Given the description of an element on the screen output the (x, y) to click on. 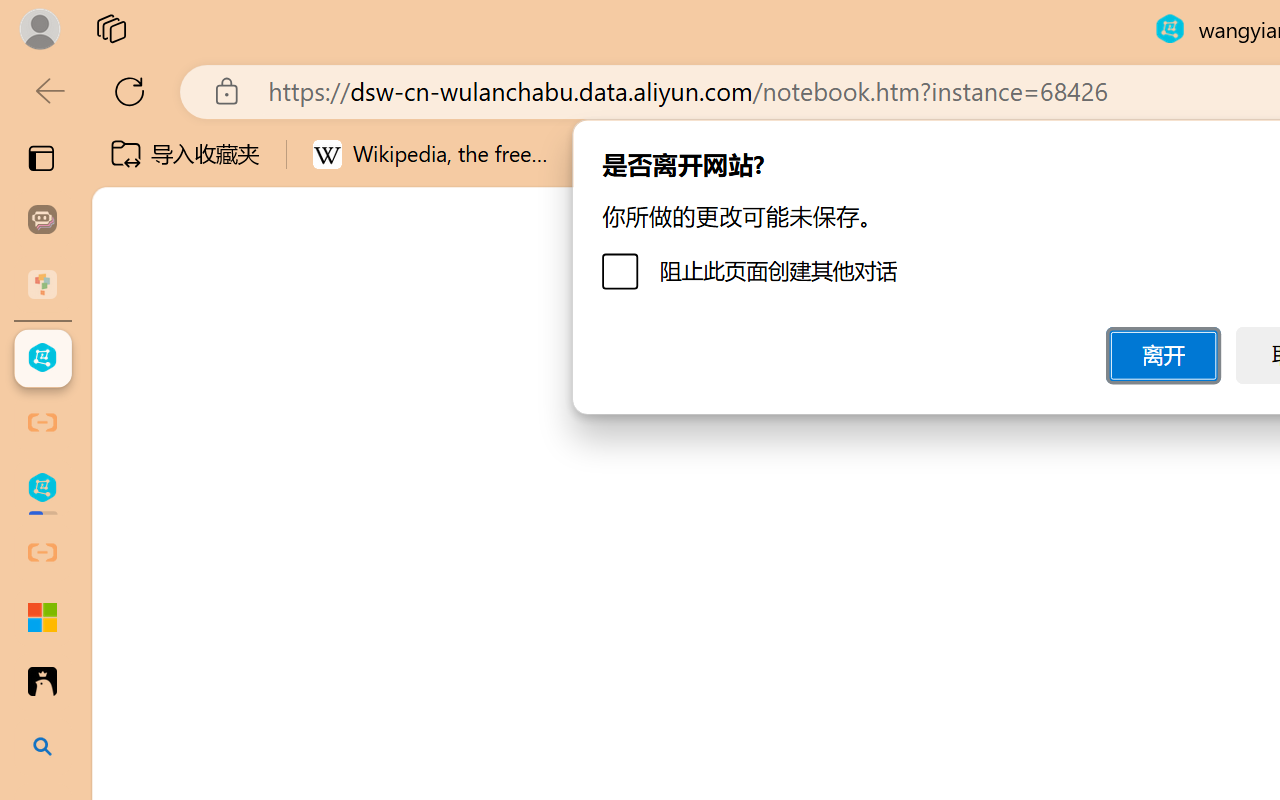
Views and More Actions... (442, 357)
wangyian_webcrawler - DSW (42, 487)
